Given the description of an element on the screen output the (x, y) to click on. 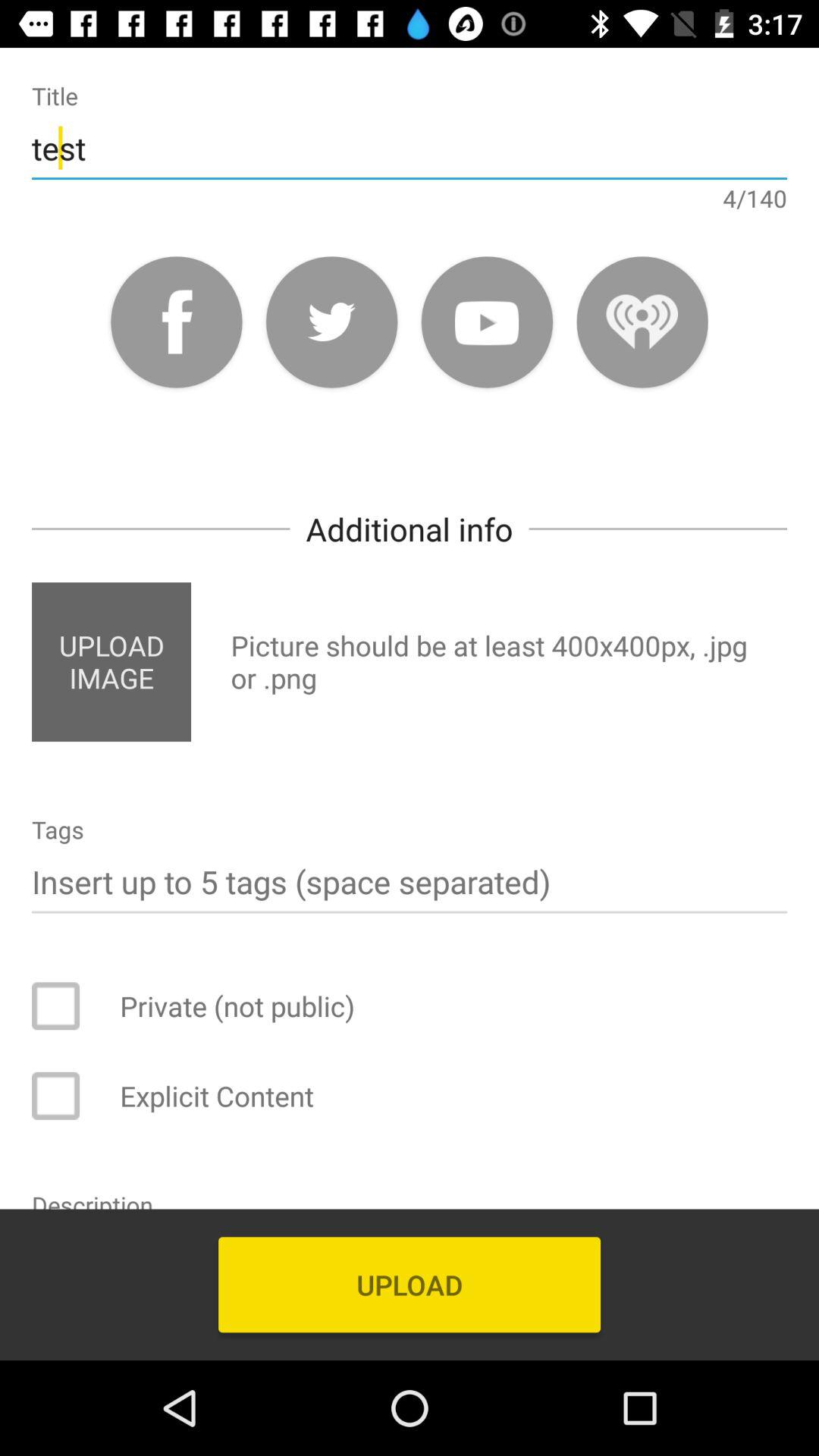
turn on icon below the title (409, 147)
